Given the description of an element on the screen output the (x, y) to click on. 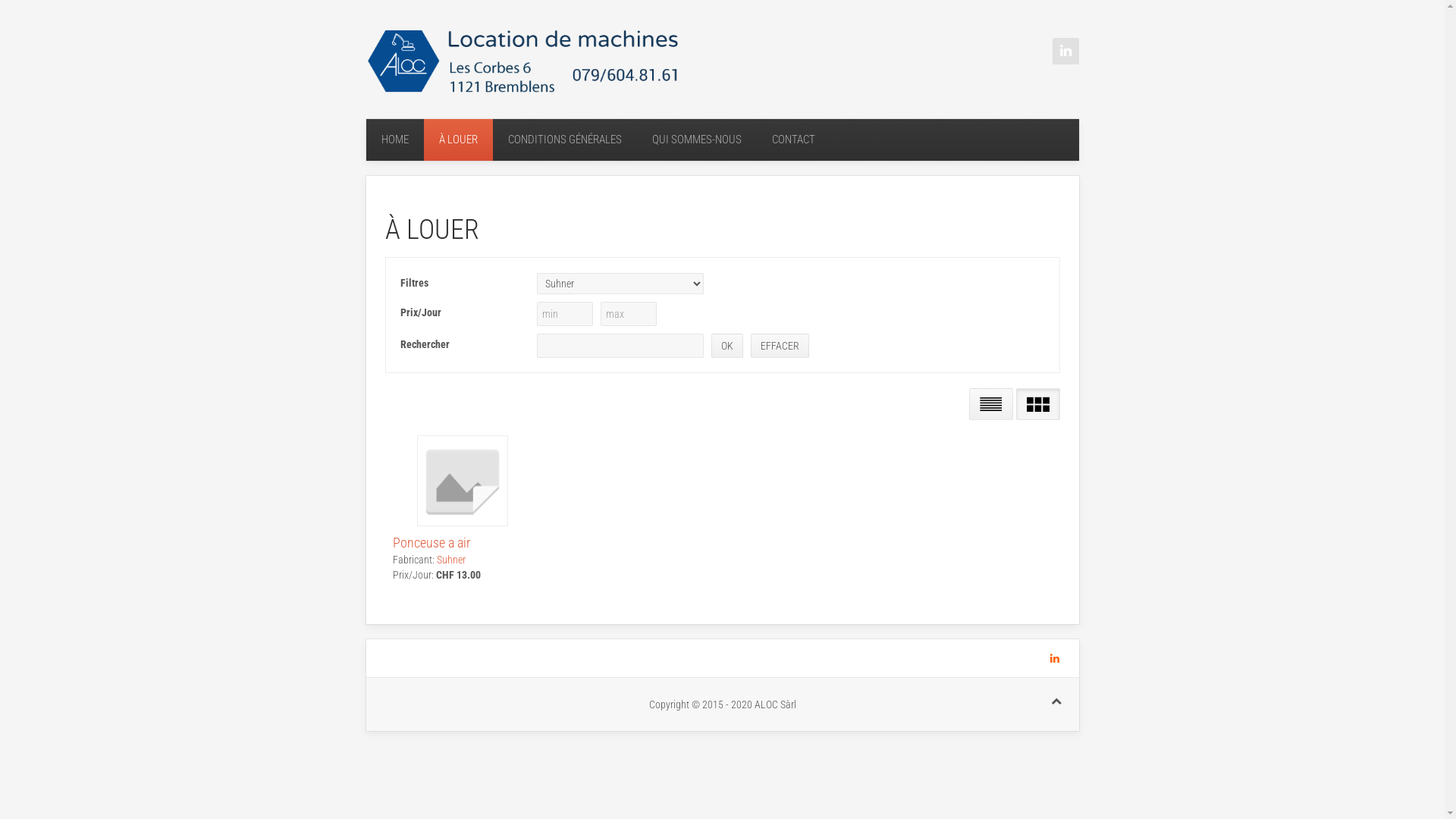
Ponceuse a air Element type: text (431, 542)
HOME Element type: text (394, 139)
Suhner Element type: text (450, 559)
Switch to grid layout Element type: hover (1038, 404)
Swtich to table layout Element type: hover (991, 404)
Effacer Element type: text (779, 345)
CONTACT Element type: text (793, 139)
QUI SOMMES-NOUS Element type: text (696, 139)
Ok Element type: text (727, 345)
